Given the description of an element on the screen output the (x, y) to click on. 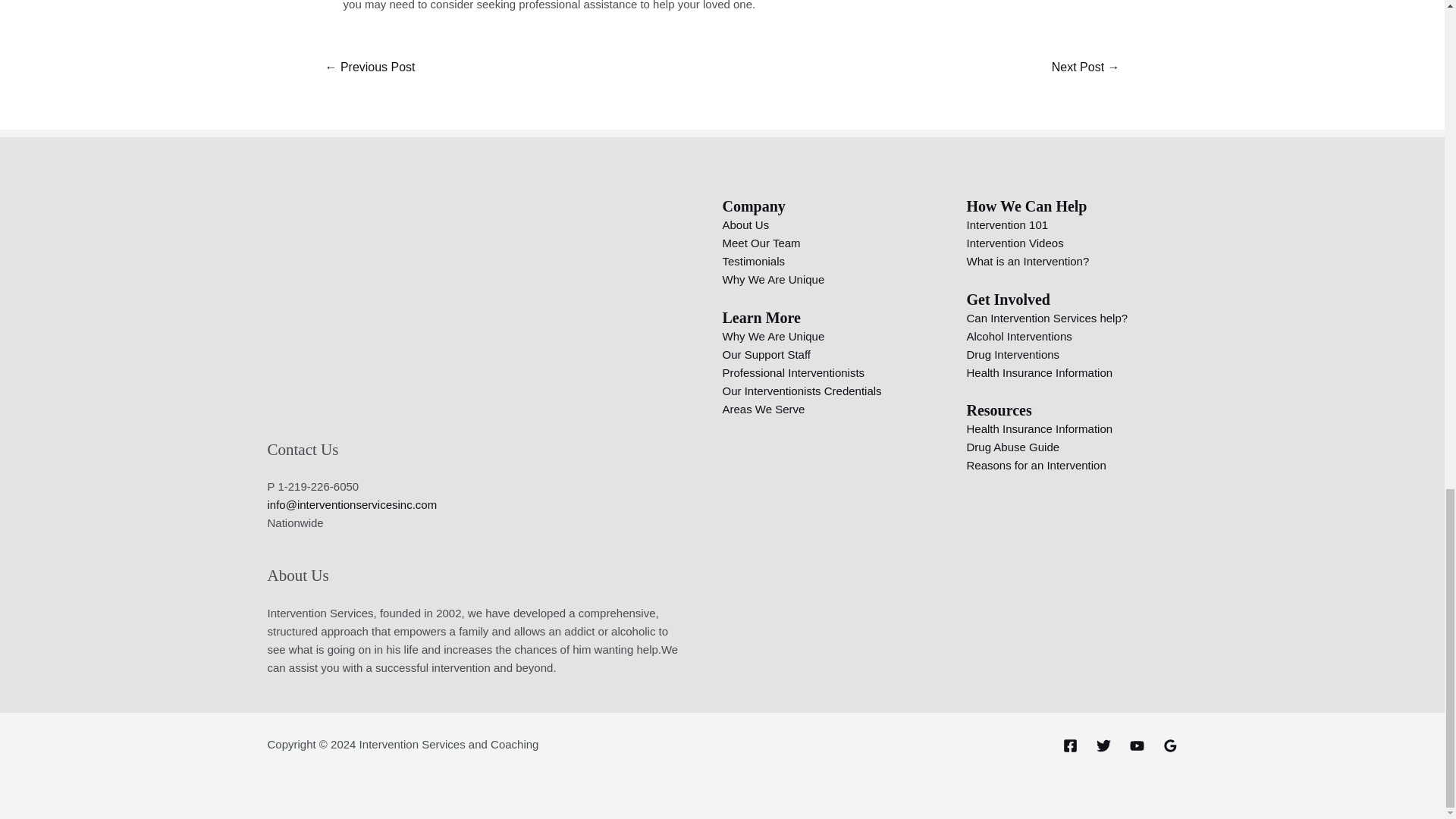
How to Stage an Intervention (368, 68)
Why You Must Fully Commit to an Intervention (1085, 68)
